Given the description of an element on the screen output the (x, y) to click on. 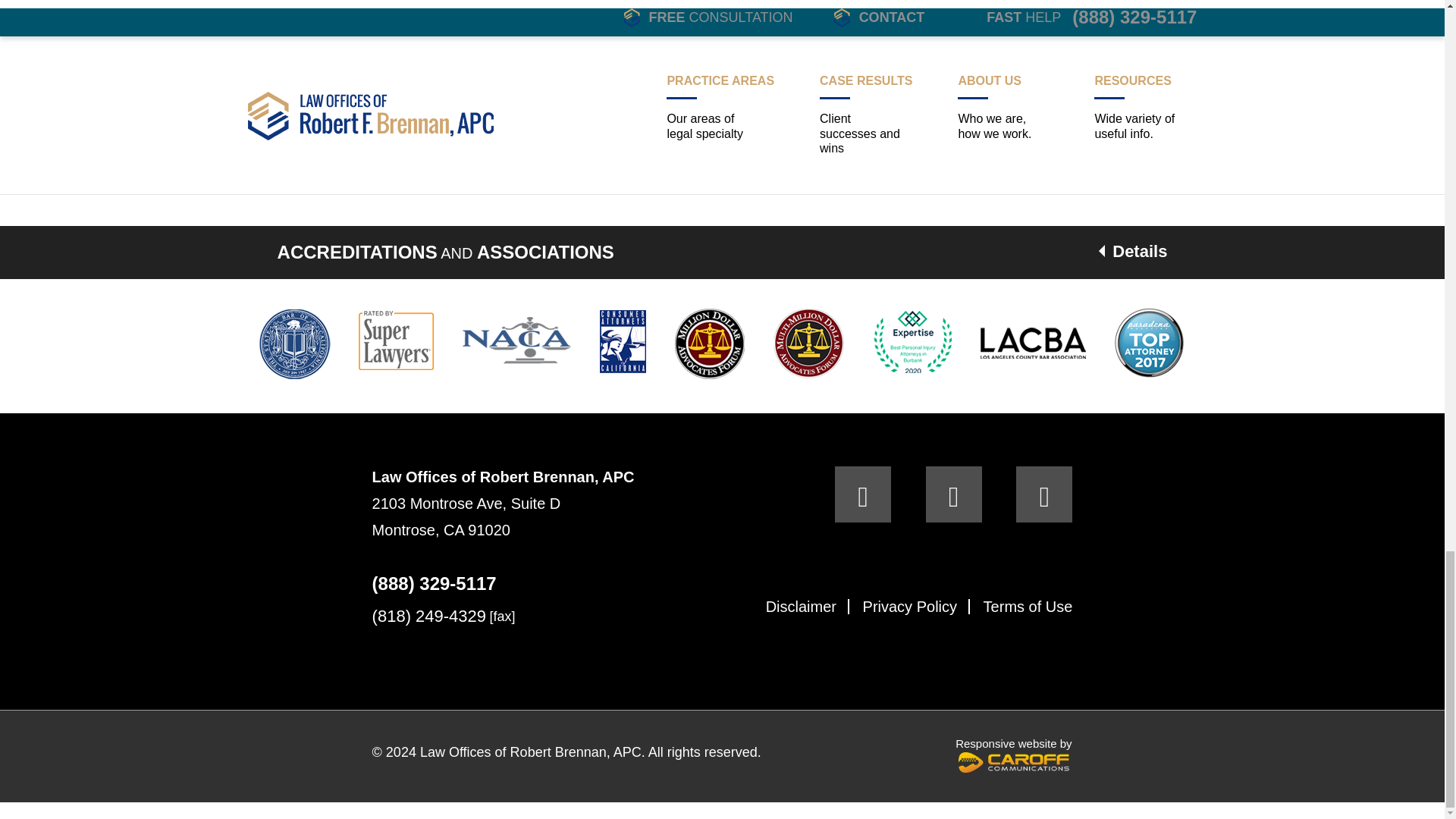
Facebook (862, 494)
Instagram (1043, 494)
LinkedIn (953, 494)
